Given the description of an element on the screen output the (x, y) to click on. 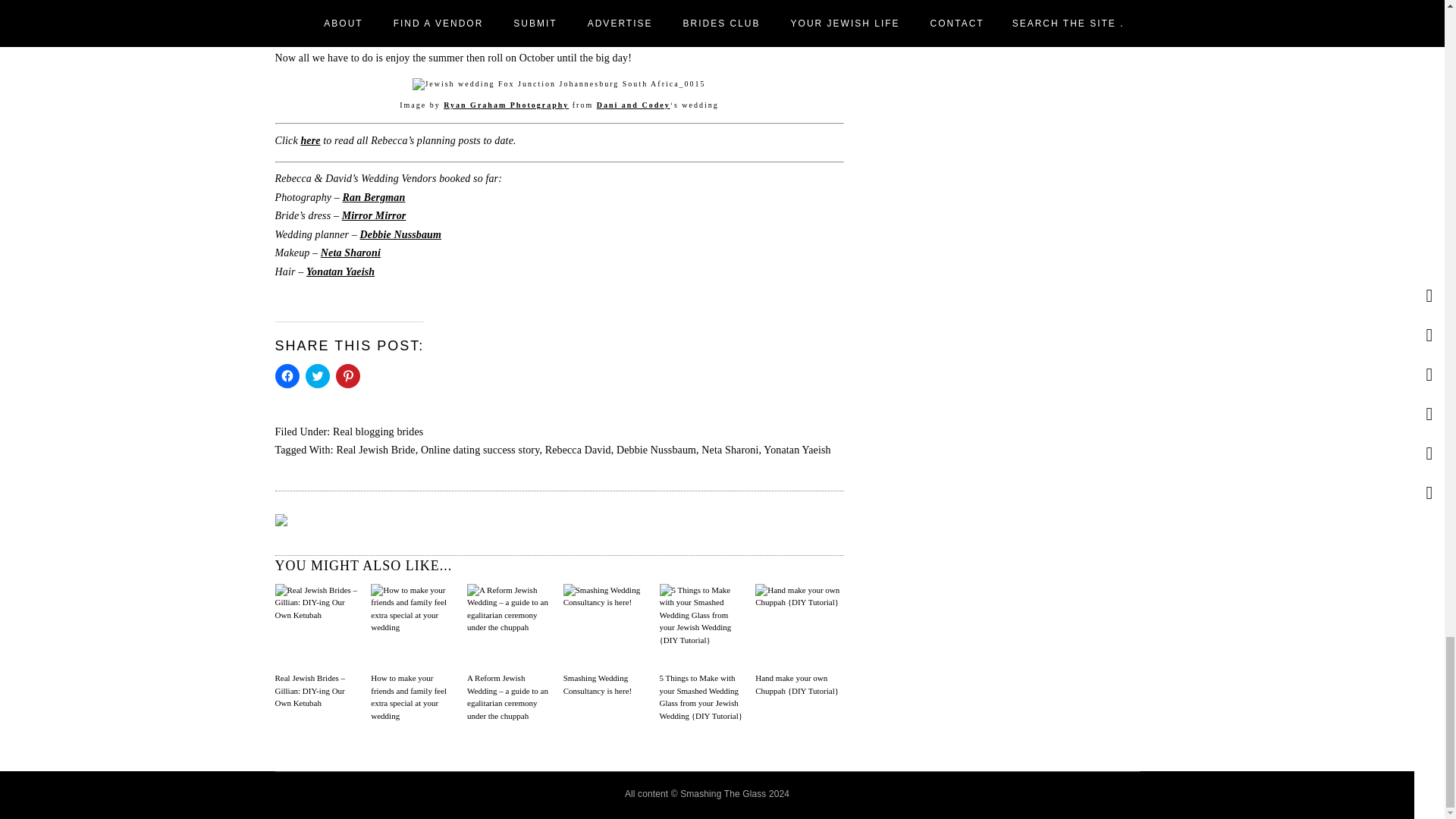
Click to share on Facebook (286, 375)
Click to share on Pinterest (346, 375)
Click to share on Twitter (316, 375)
